Given the description of an element on the screen output the (x, y) to click on. 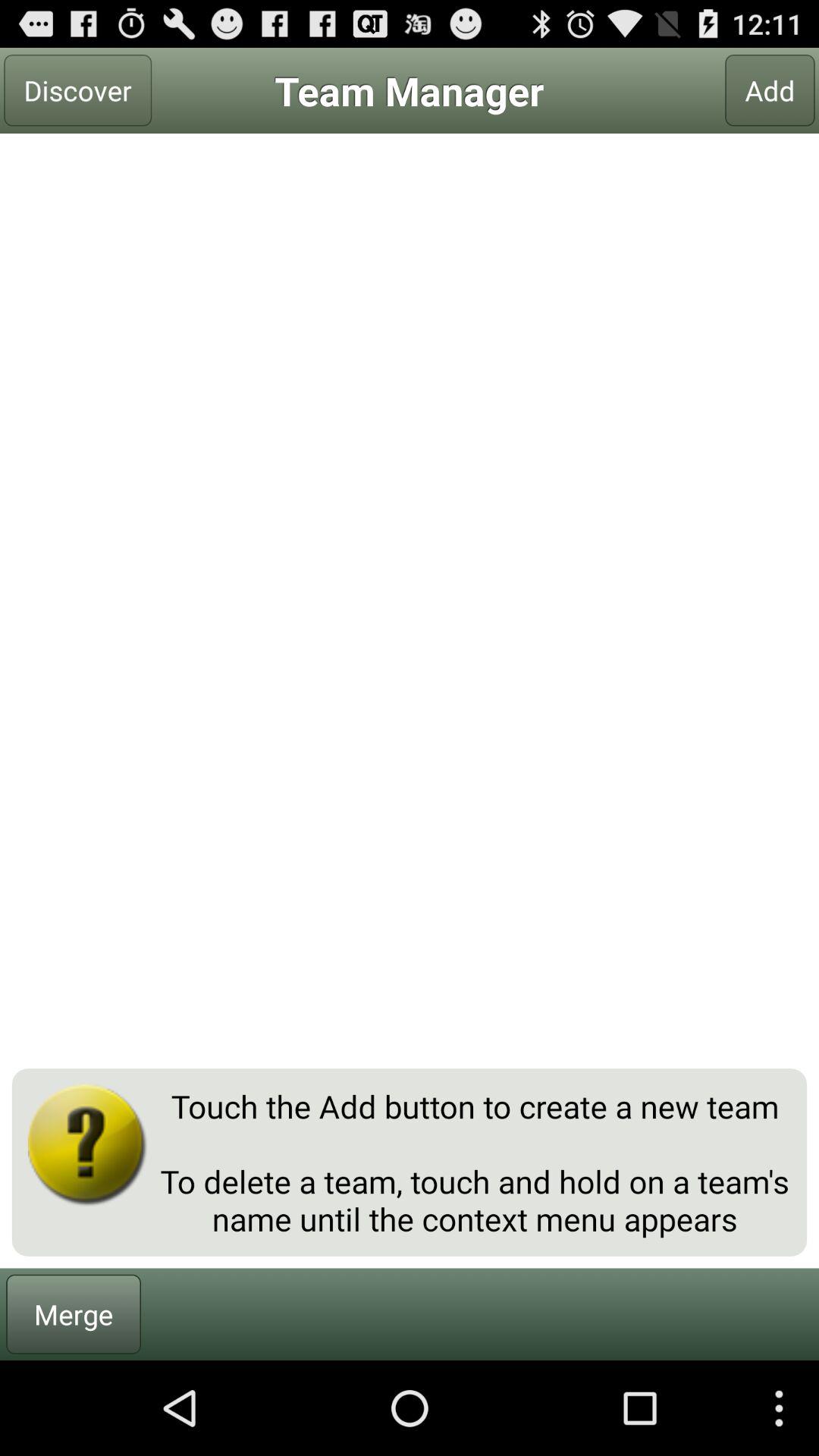
turn off the item to the left of team manager icon (77, 90)
